Given the description of an element on the screen output the (x, y) to click on. 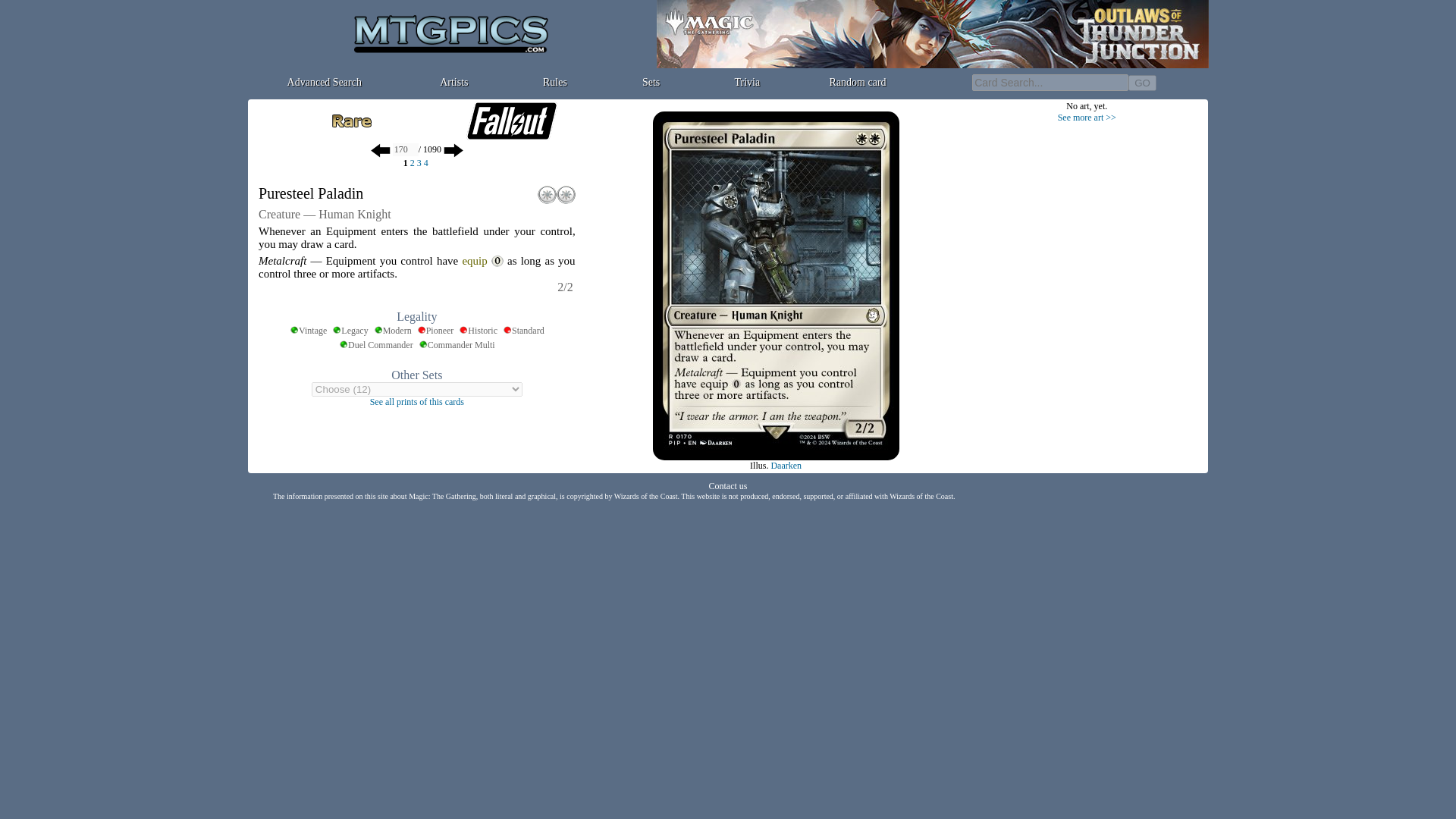
Trivia (746, 81)
Legal in Vintage (307, 330)
170 (406, 149)
See all prints of this cards (416, 400)
Legal in Duel Commander (376, 345)
Banned in Pioneer (435, 330)
Rules (555, 81)
Sets (650, 81)
Contact us (726, 485)
Random card (857, 81)
